Given the description of an element on the screen output the (x, y) to click on. 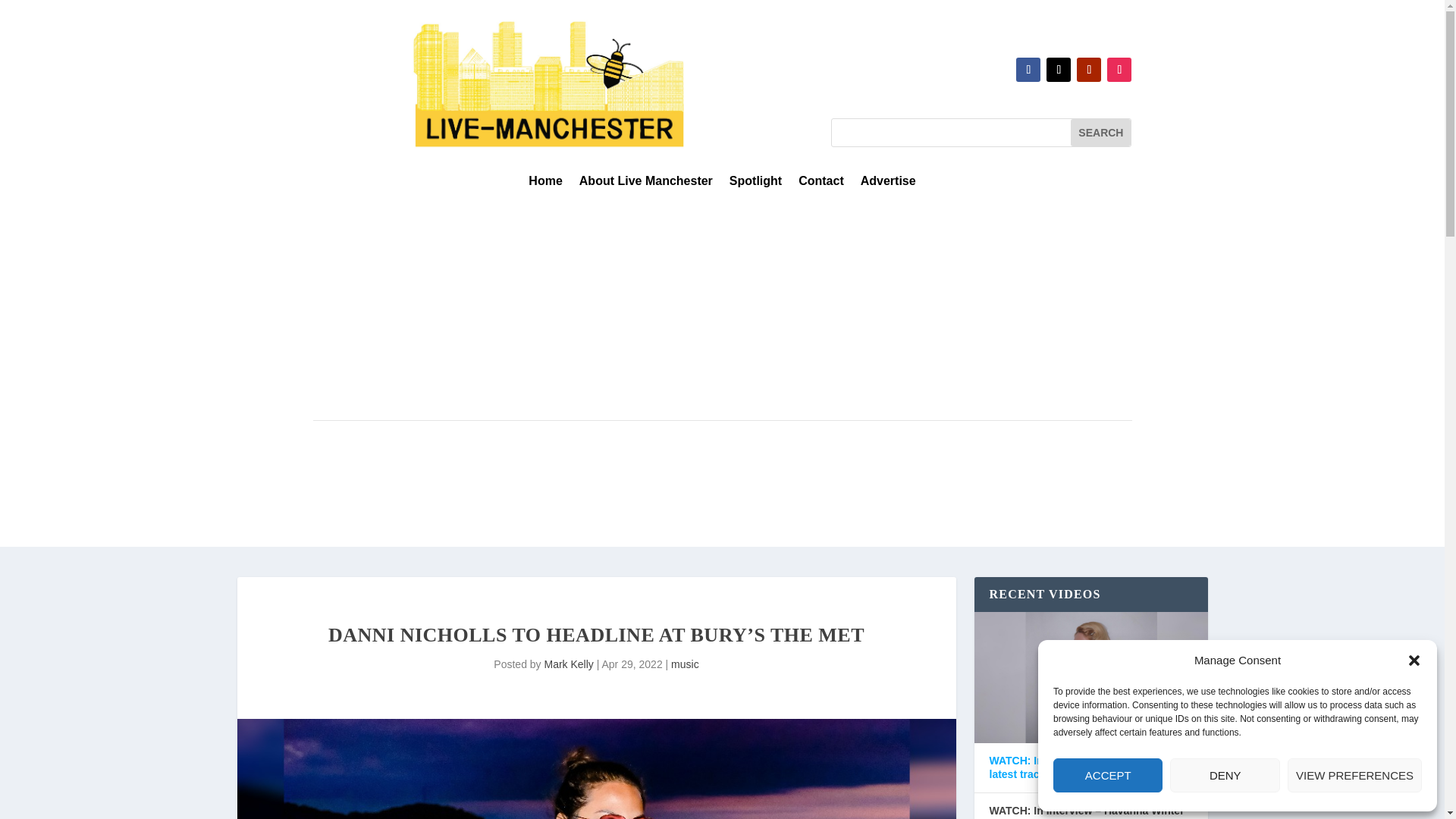
Contact (820, 184)
Follow on Facebook (1028, 69)
Spotlight (755, 184)
ACCEPT (1106, 775)
Search (1100, 132)
DENY (1224, 775)
Home (545, 184)
Search (1100, 132)
Follow on Instagram (1118, 69)
